Given the description of an element on the screen output the (x, y) to click on. 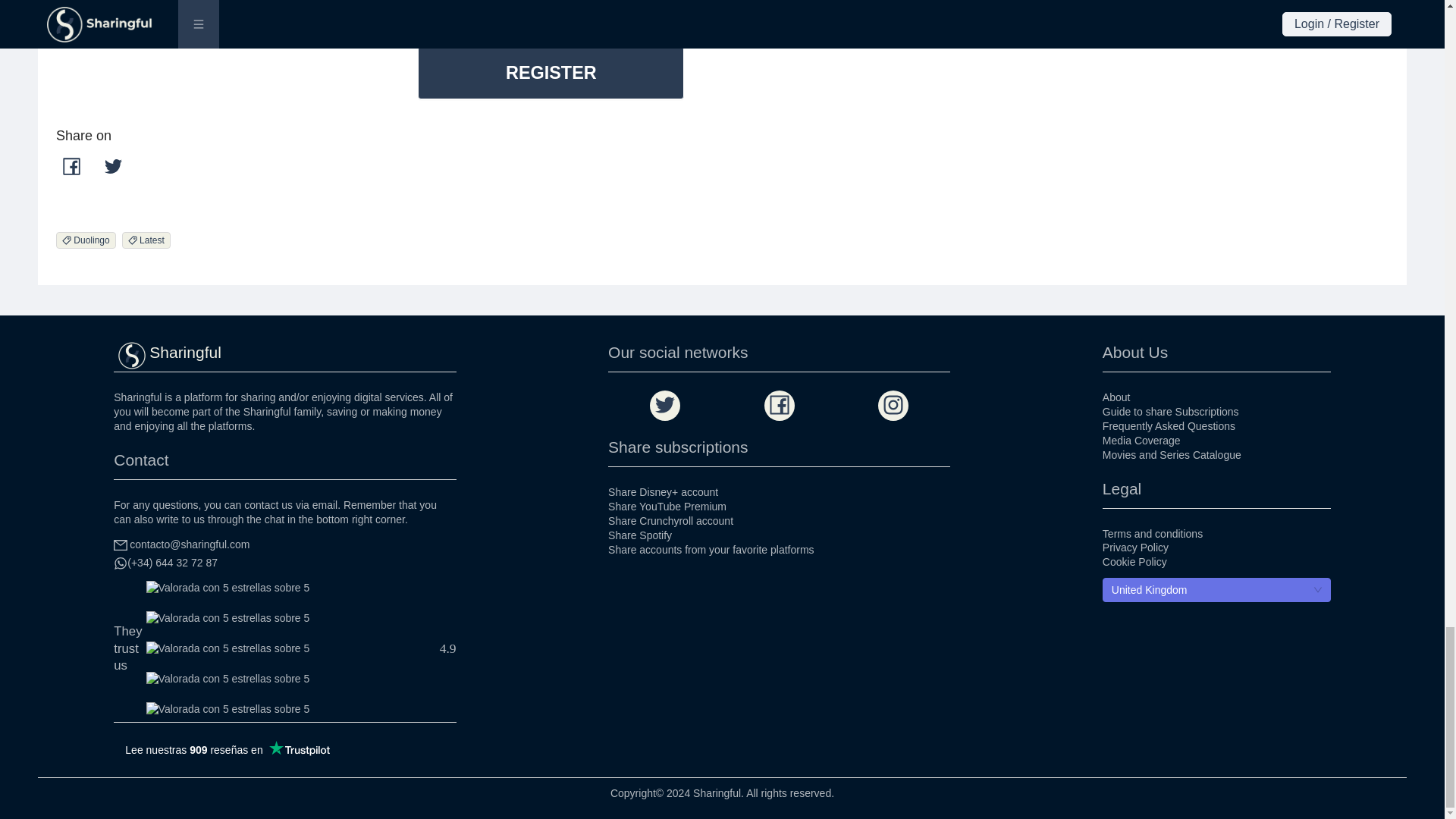
Duolingo (89, 238)
United Kingdom (1217, 589)
Customer reviews powered by Trustpilot (226, 750)
REGISTER (550, 72)
Latest (149, 238)
practice duoling plus (405, 23)
